Given the description of an element on the screen output the (x, y) to click on. 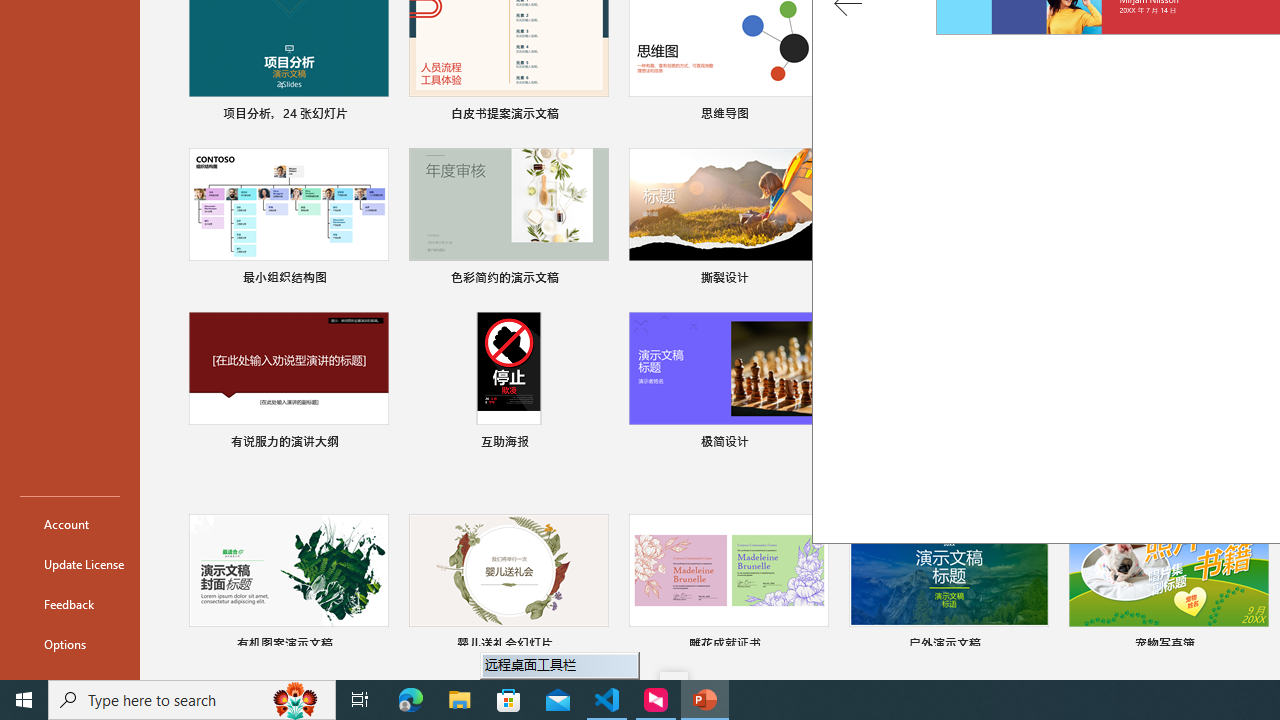
Feedback (69, 603)
Options (69, 643)
Account (69, 523)
